Given the description of an element on the screen output the (x, y) to click on. 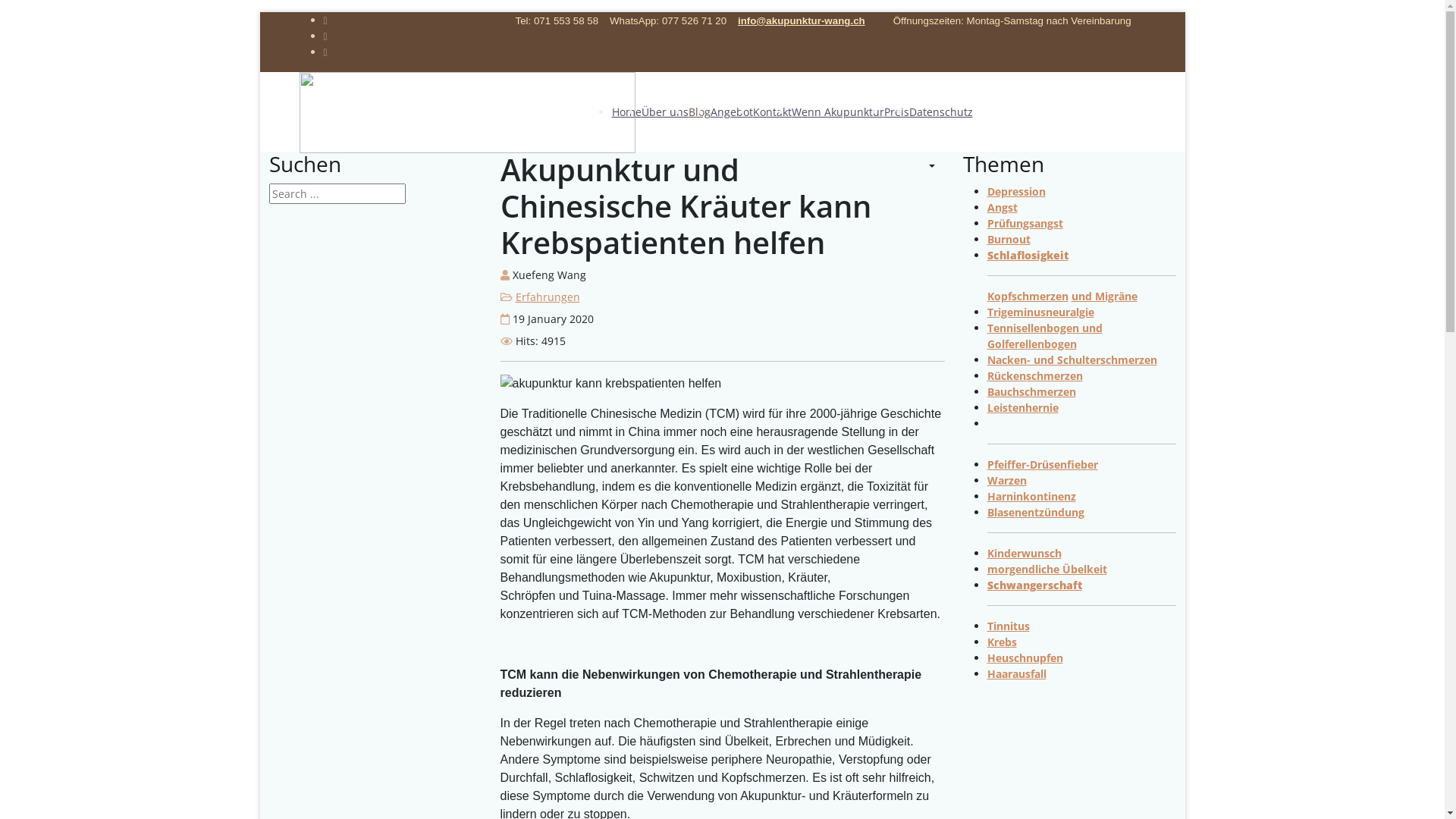
akupunktur und krebs Element type: hover (610, 383)
Leistenhernie Element type: text (1022, 407)
Kopfschmerzen Element type: text (1027, 295)
Depression Element type: text (1016, 191)
Preis Element type: text (896, 111)
Angebot Element type: text (730, 111)
Schlaflosigkeit Element type: text (1027, 254)
Home Element type: text (625, 111)
Kinderwunsch Element type: text (1024, 553)
Nacken- und Schulterschmerzen Element type: text (1072, 359)
Datenschutz Element type: text (940, 111)
Schwangerschaft Element type: text (1034, 584)
Krebs Element type: text (1001, 641)
Kontakt Element type: text (771, 111)
Wenn Akupunktur Element type: text (837, 111)
Bauchschmerzen Element type: text (1031, 391)
Blog Element type: text (699, 111)
Haarausfall Element type: text (1016, 673)
Tinnitus Element type: text (1008, 625)
Burnout Element type: text (1008, 239)
Erfahrungen Element type: text (547, 296)
Tennisellenbogen und Golferellenbogen Element type: text (1044, 335)
info@akupunktur-wang.ch Element type: text (801, 20)
Trigeminusneuralgie Element type: text (1040, 311)
Angst Element type: text (1002, 207)
Harninkontinenz Element type: text (1031, 496)
Warzen Element type: text (1006, 480)
Heuschnupfen Element type: text (1025, 657)
